Given the description of an element on the screen output the (x, y) to click on. 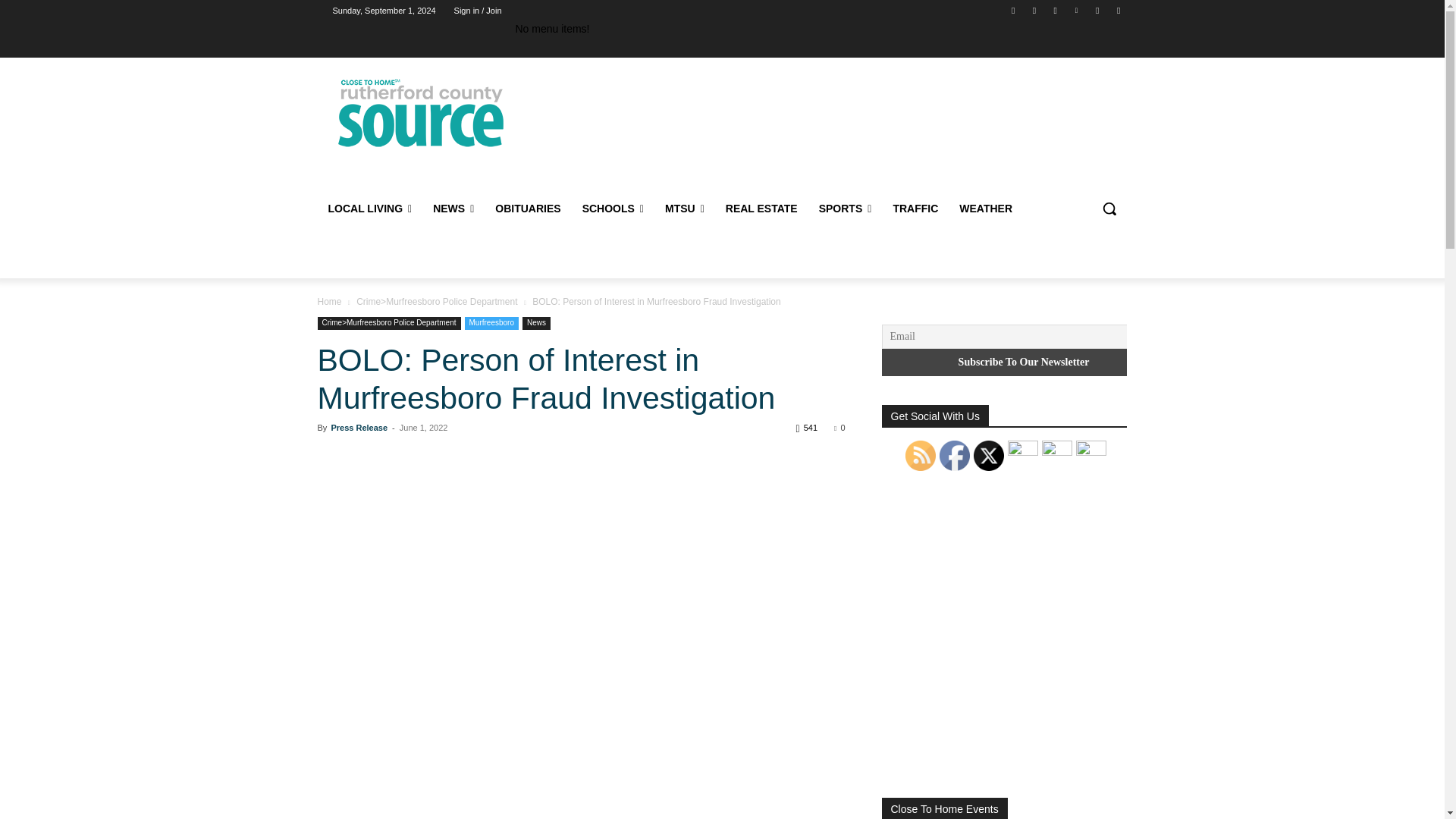
Youtube (1117, 9)
Twitter (1097, 9)
Linkedin (1075, 9)
Facebook (1013, 9)
Instagram (1055, 9)
Flipboard (1034, 9)
Subscribe To Our Newsletter (1023, 361)
